Given the description of an element on the screen output the (x, y) to click on. 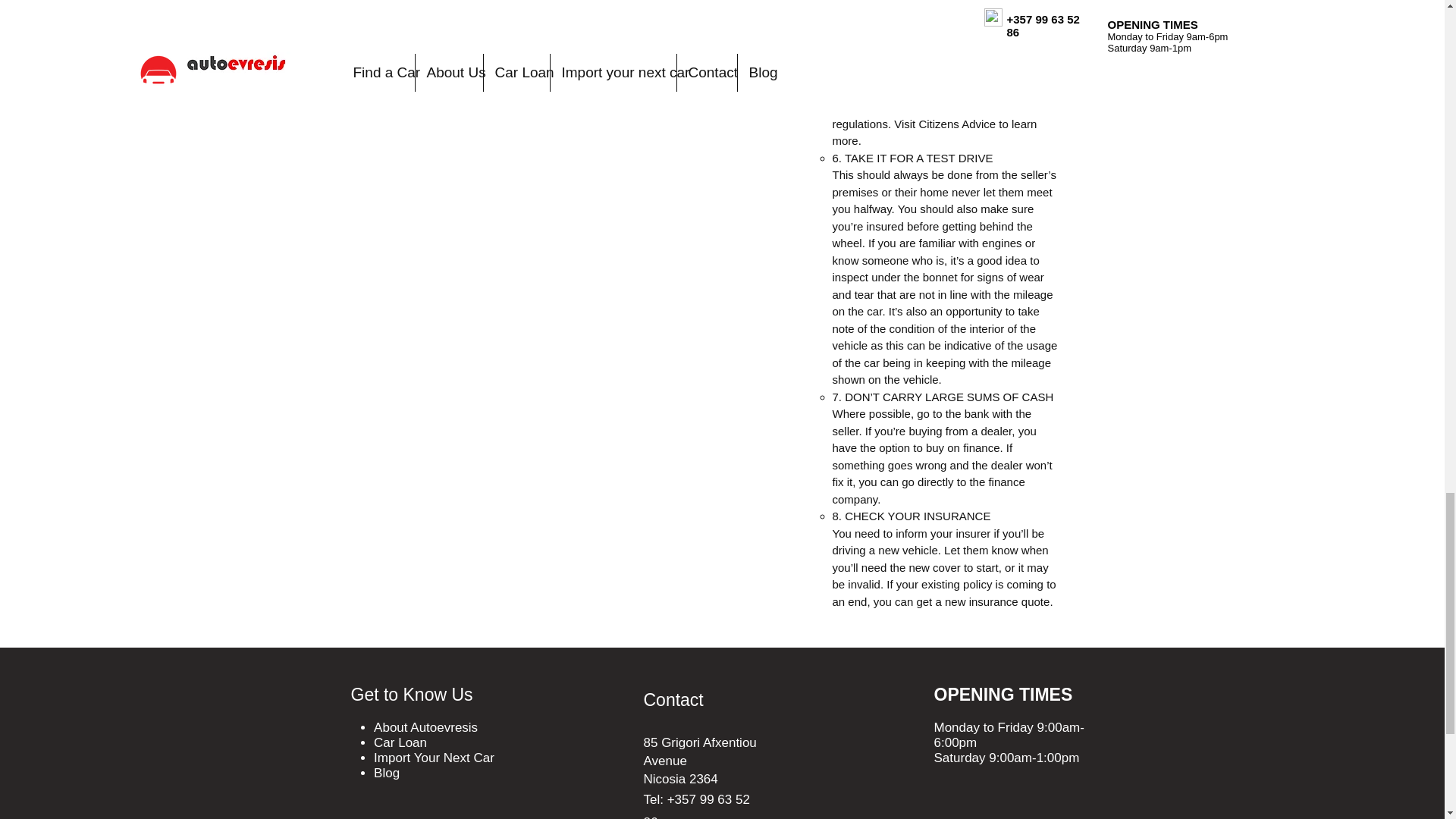
Car Loan (400, 742)
About Autoevresis (425, 727)
Import Your Next Car (434, 757)
Blog (386, 772)
Contact (673, 700)
